Given the description of an element on the screen output the (x, y) to click on. 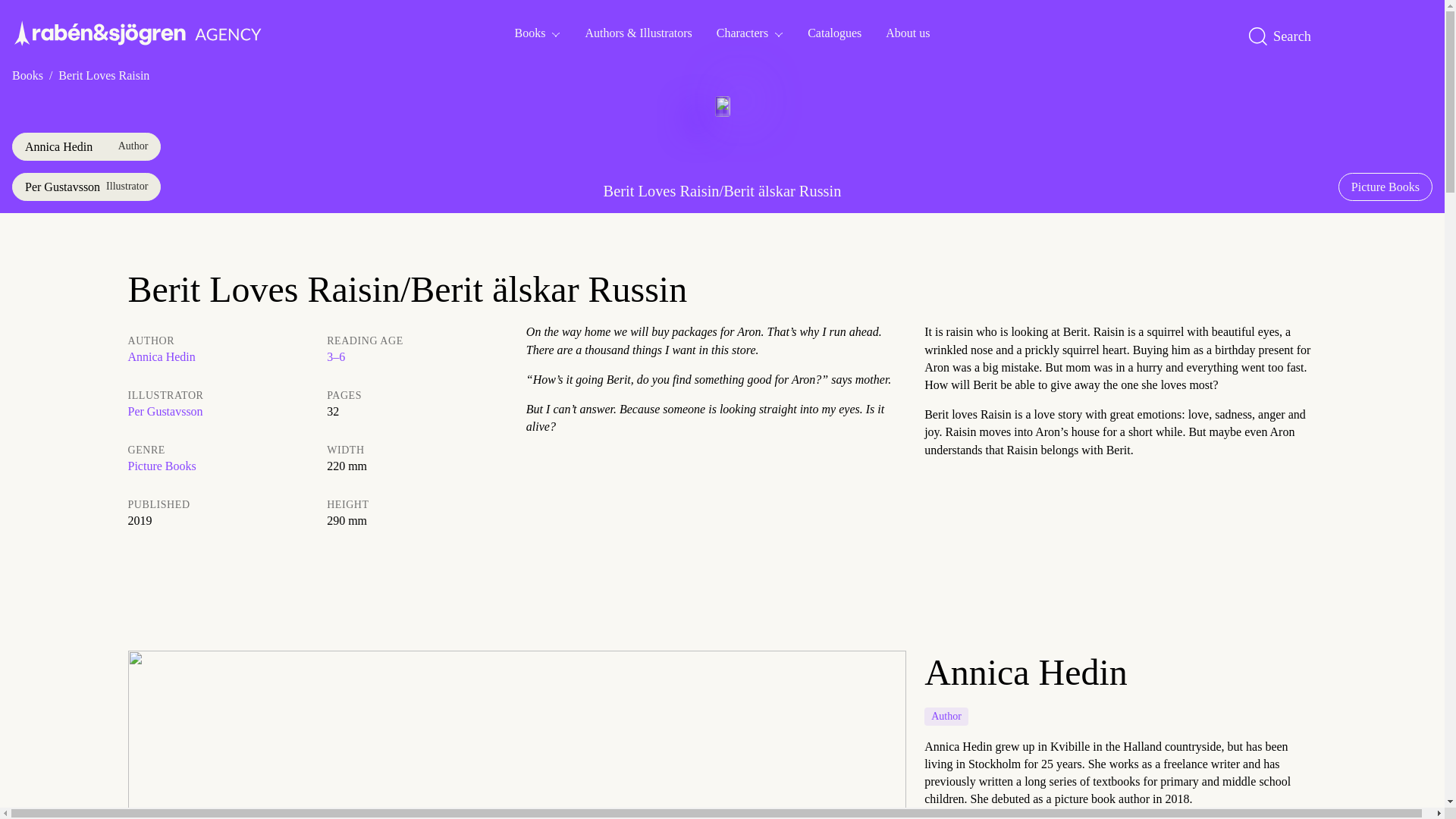
Per Gustavsson (85, 186)
Catalogues (833, 32)
About us (907, 32)
Picture Books (1385, 186)
Search (1284, 36)
Books (537, 32)
Annica Hedin (85, 146)
